Given the description of an element on the screen output the (x, y) to click on. 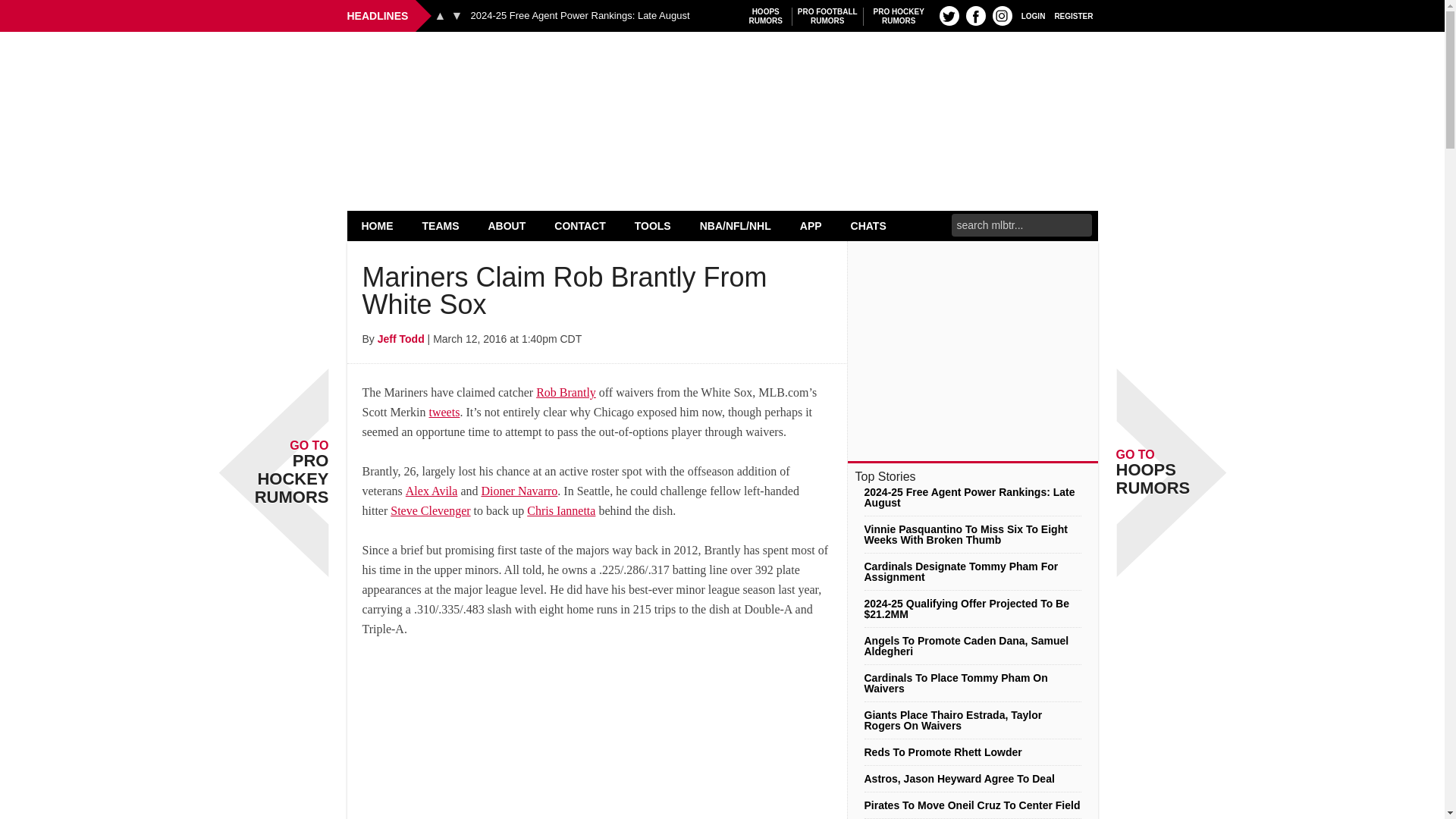
LOGIN (1032, 15)
Previous (439, 15)
Twitter profile (765, 16)
HOME (949, 15)
TEAMS (377, 225)
REGISTER (440, 225)
2024-25 Free Agent Power Rankings: Late August (1073, 15)
Next (579, 15)
